Given the description of an element on the screen output the (x, y) to click on. 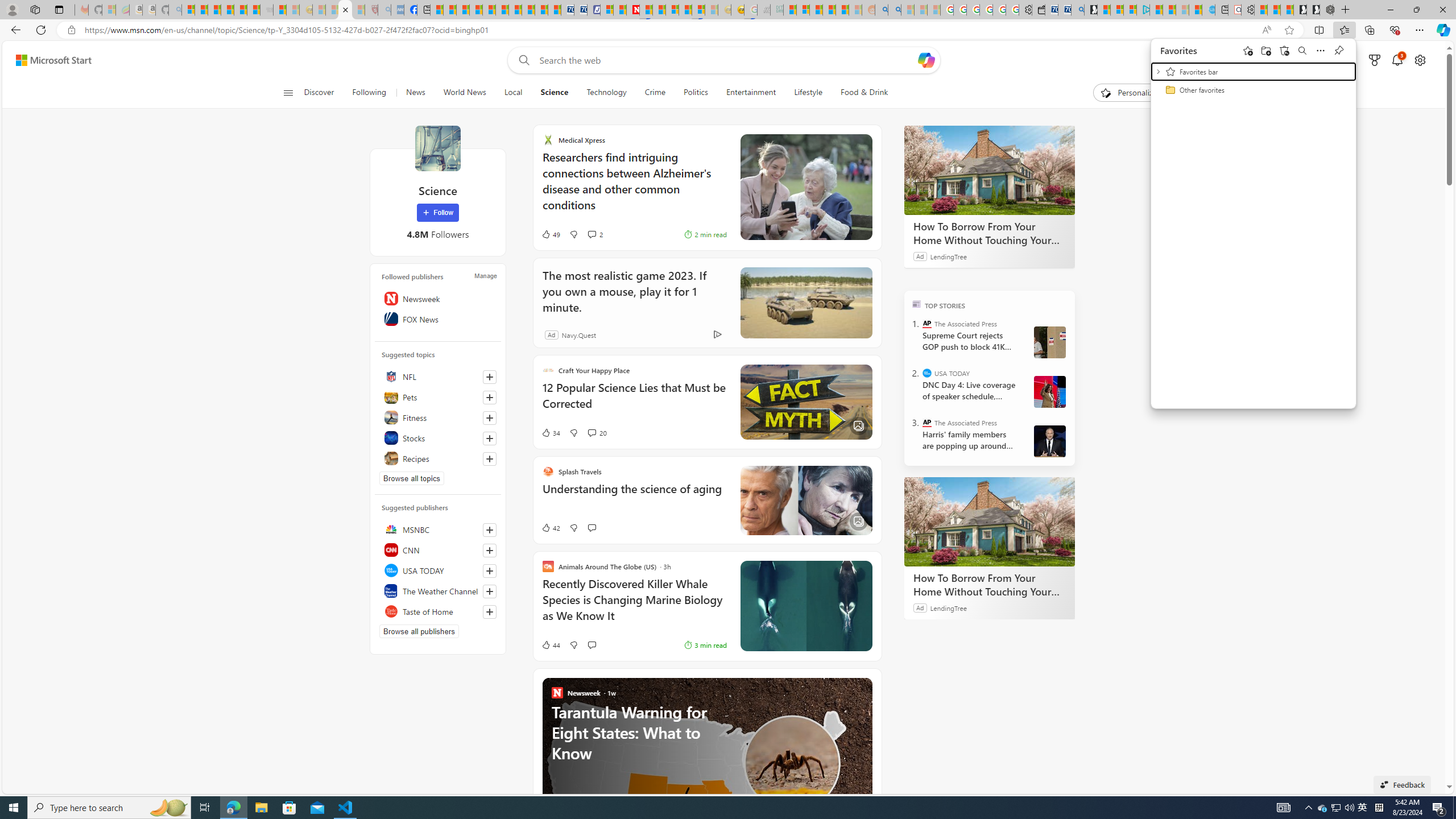
Visual Studio Code - 1 running window (345, 807)
Restore deleted favorites (1284, 49)
Search highlights icon opens search home window (167, 807)
Type here to search (108, 807)
Show desktop (1454, 807)
